Given the description of an element on the screen output the (x, y) to click on. 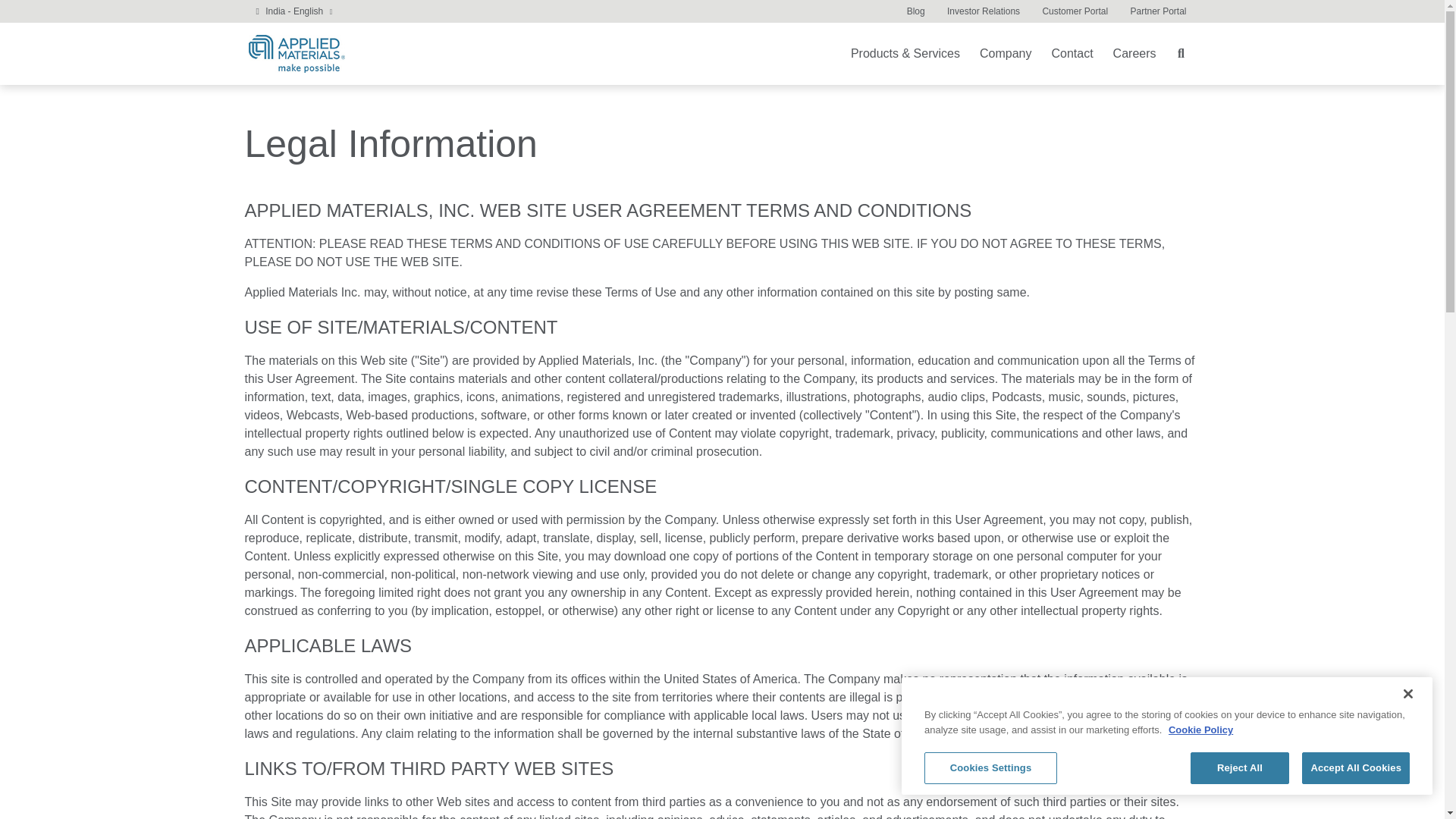
India - English (294, 11)
Investor Relations (983, 11)
Customer Portal (1075, 11)
Blog (915, 11)
Partner Portal (1157, 11)
